Given the description of an element on the screen output the (x, y) to click on. 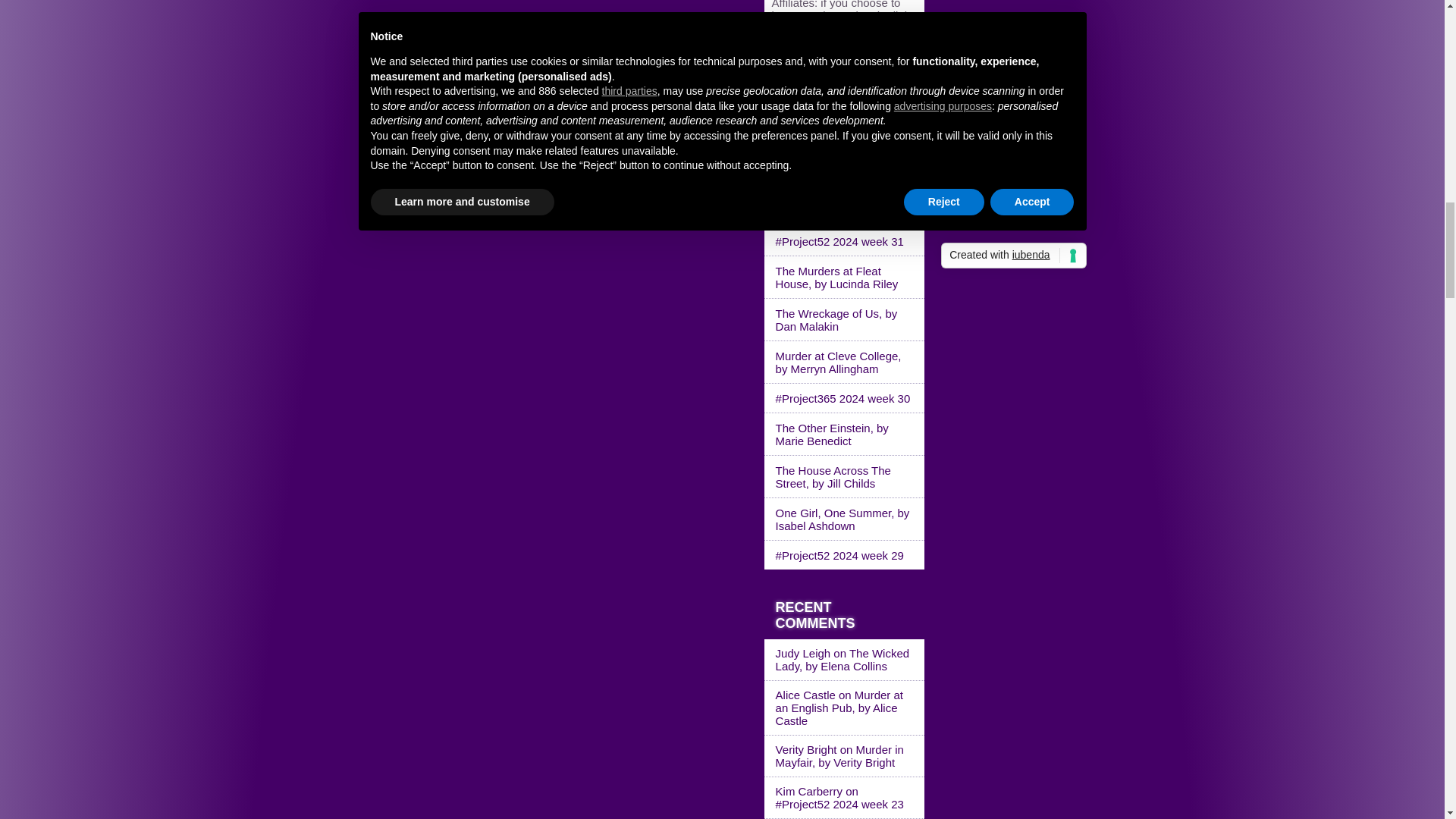
Murder at Cleve College, by Merryn Allingham (844, 362)
One Girl, One Summer, by Isabel Ashdown (844, 518)
The Other Einstein, by Marie Benedict (844, 434)
The Wreckage of Us, by Dan Malakin (844, 319)
Alice Castle (805, 694)
The Wicked Lady, by Elena Collins (844, 205)
The Murders at Fleat House, by Lucinda Riley (844, 277)
Follow (788, 115)
The Wicked Lady, by Elena Collins (843, 659)
The House Across The Street, by Jill Childs (844, 476)
